Given the description of an element on the screen output the (x, y) to click on. 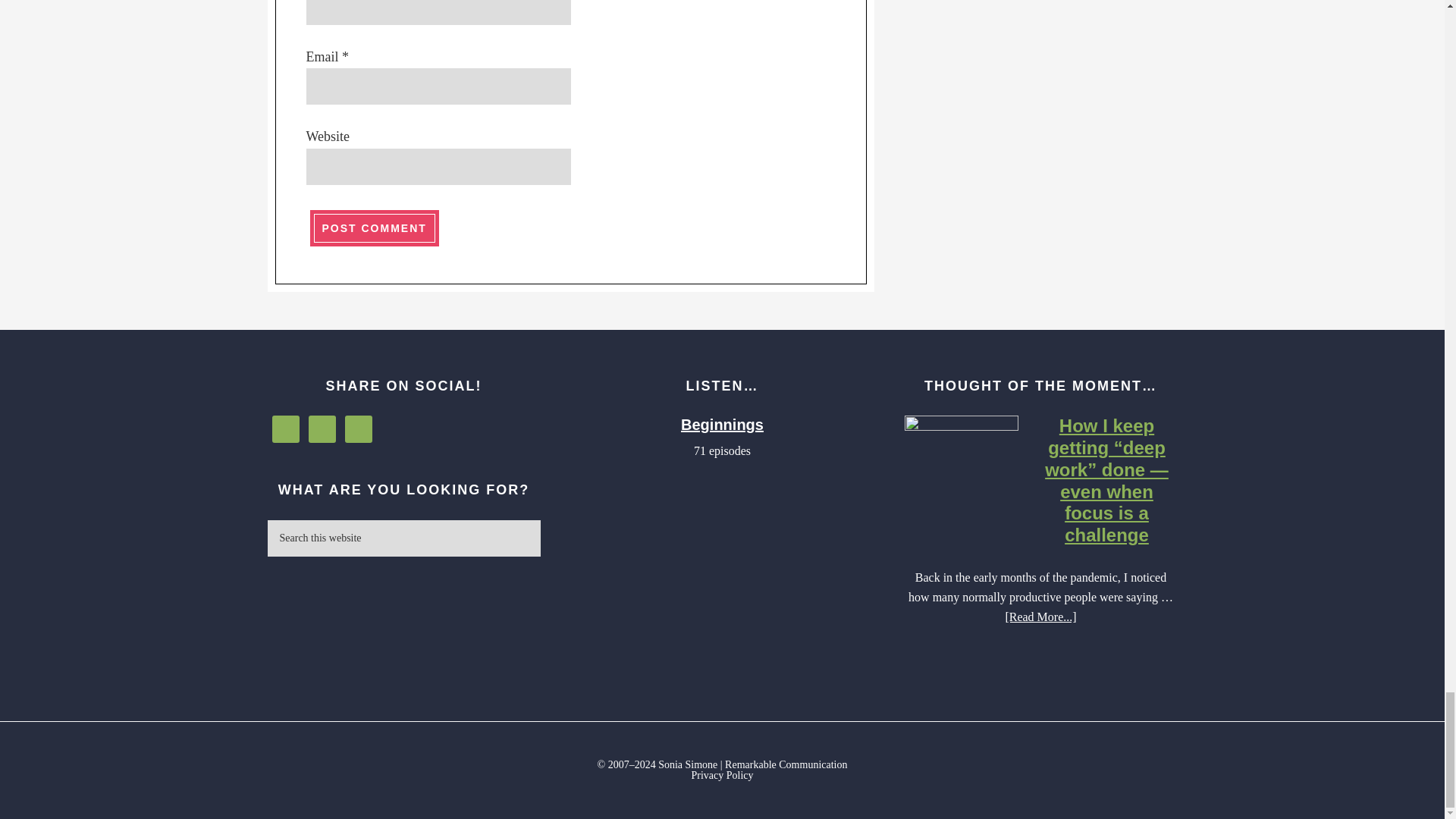
Search (548, 527)
Privacy Policy (721, 775)
Search (548, 527)
Beginnings (721, 424)
Post Comment (374, 227)
